Given the description of an element on the screen output the (x, y) to click on. 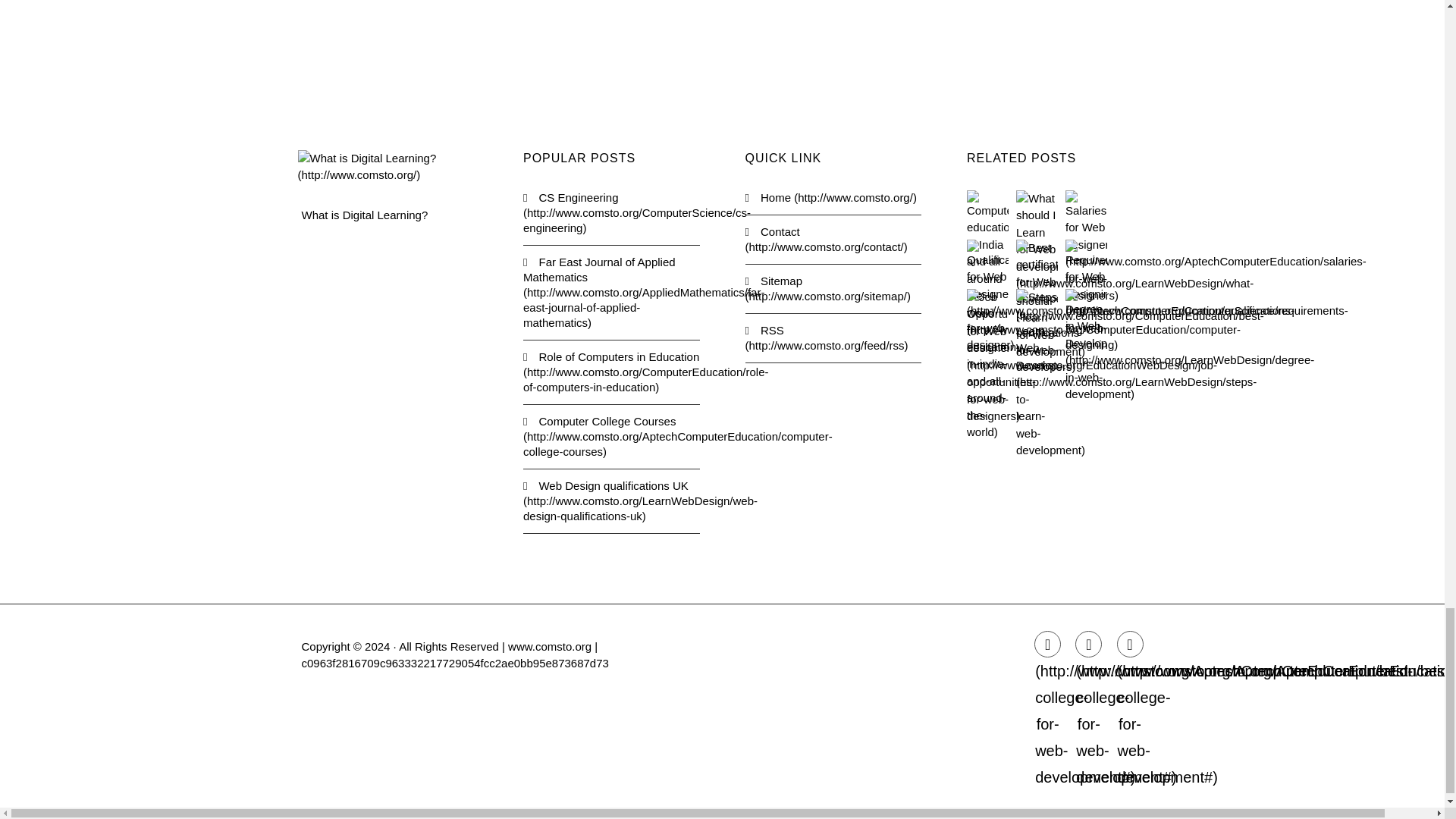
Role of Computers in Education (611, 371)
Far East Journal of Applied Mathematics (611, 292)
CS Engineering (611, 212)
